Given the description of an element on the screen output the (x, y) to click on. 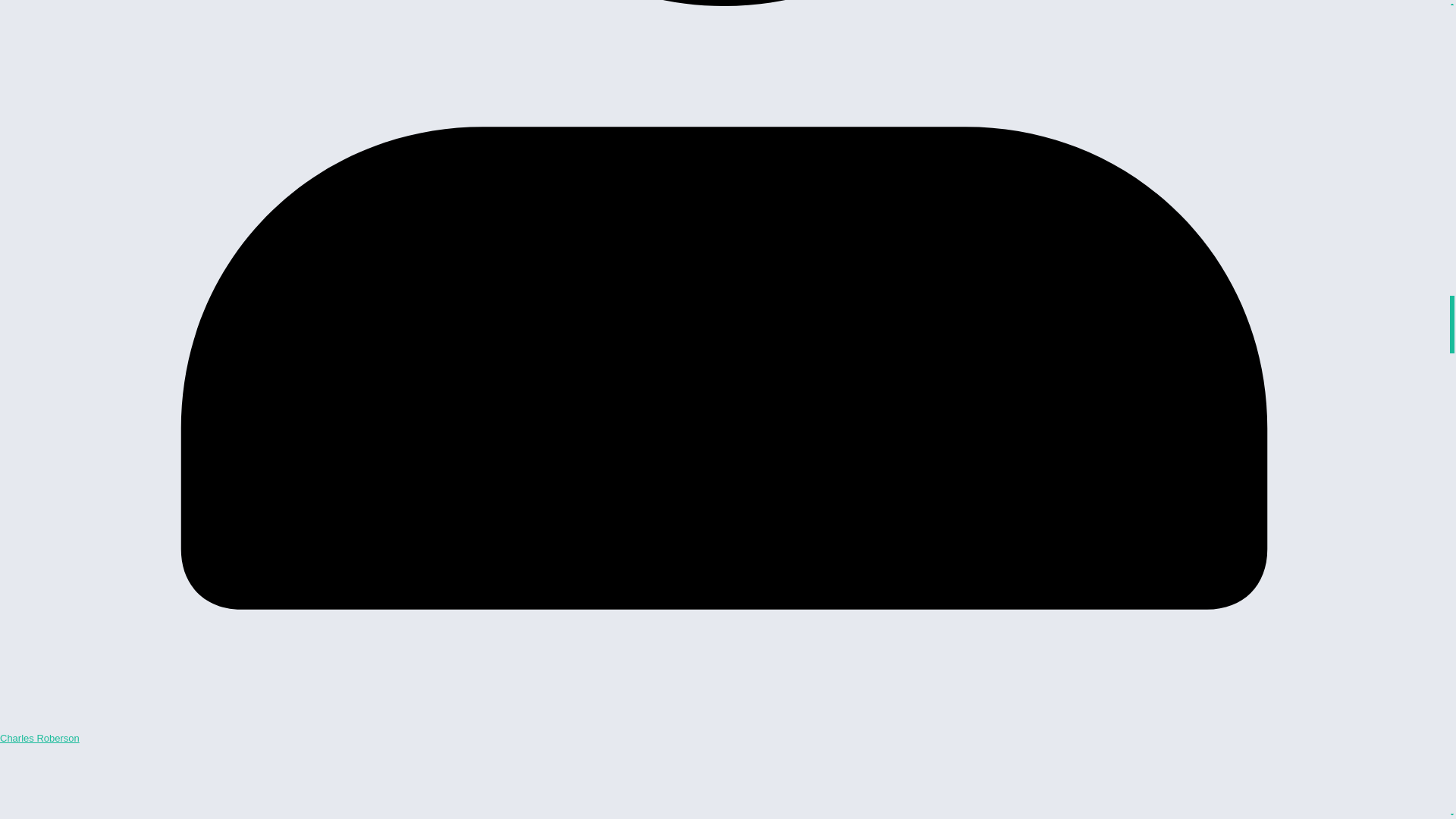
Charles Roberson (40, 737)
Charles Roberson (40, 737)
